Given the description of an element on the screen output the (x, y) to click on. 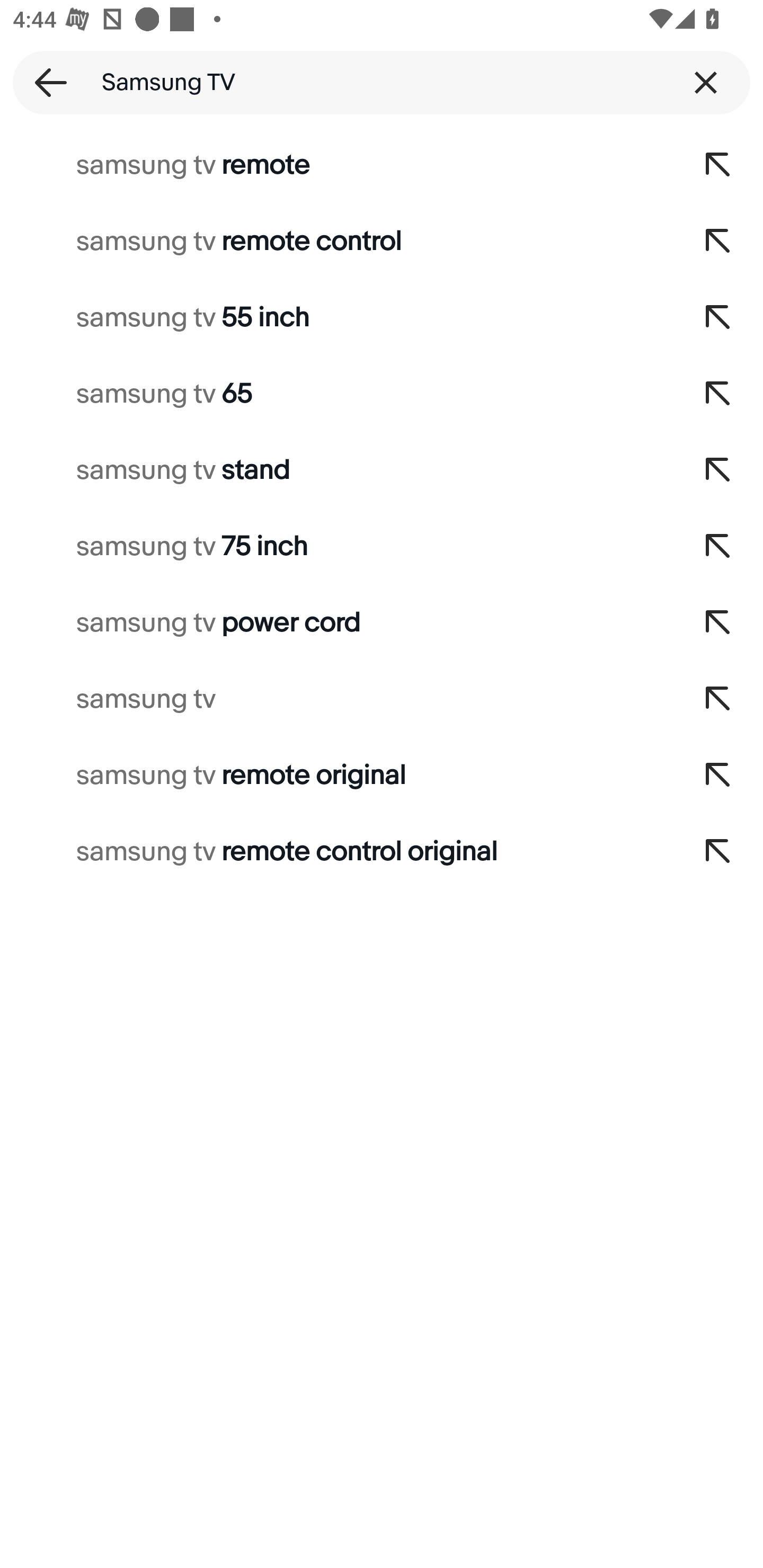
Back (44, 82)
Clear query (705, 82)
Samsung TV (381, 82)
samsung tv remote (336, 165)
Add to search query,samsung tv remote (718, 165)
samsung tv remote control (336, 241)
Add to search query,samsung tv remote control (718, 241)
samsung tv 55 inch (336, 317)
Add to search query,samsung tv 55 inch (718, 317)
samsung tv 65 (336, 393)
Add to search query,samsung tv 65 (718, 393)
samsung tv stand (336, 470)
Add to search query,samsung tv stand (718, 470)
samsung tv 75 inch (336, 546)
Add to search query,samsung tv 75 inch (718, 546)
samsung tv power cord (336, 622)
Add to search query,samsung tv power cord (718, 622)
samsung tv (336, 698)
Add to search query,samsung tv (718, 698)
samsung tv remote original (336, 774)
